Given the description of an element on the screen output the (x, y) to click on. 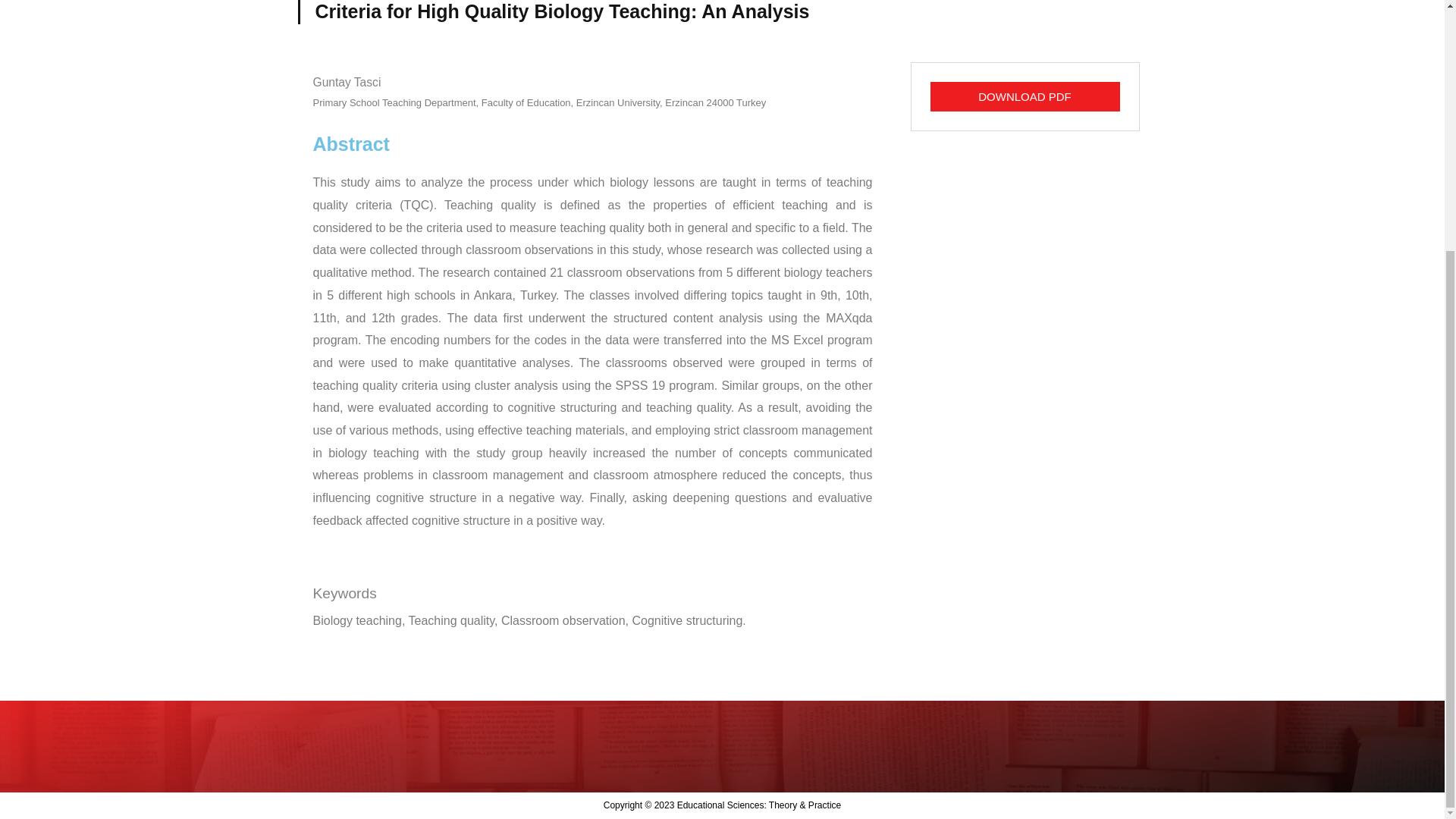
DOWNLOAD PDF (1024, 96)
